Given the description of an element on the screen output the (x, y) to click on. 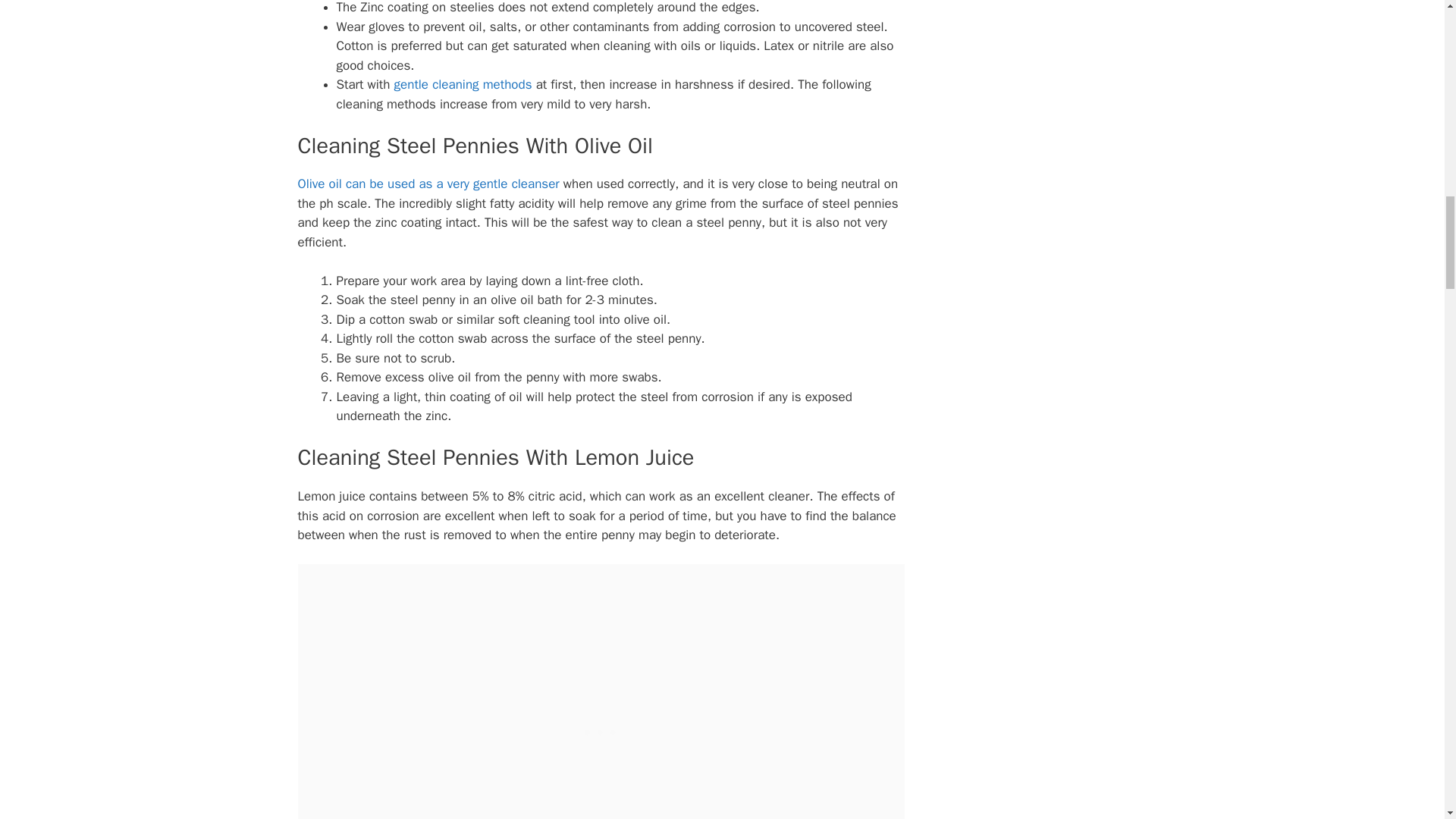
gentle cleaning methods (463, 84)
Olive oil can be used as a very gentle cleanser (428, 183)
